Given the description of an element on the screen output the (x, y) to click on. 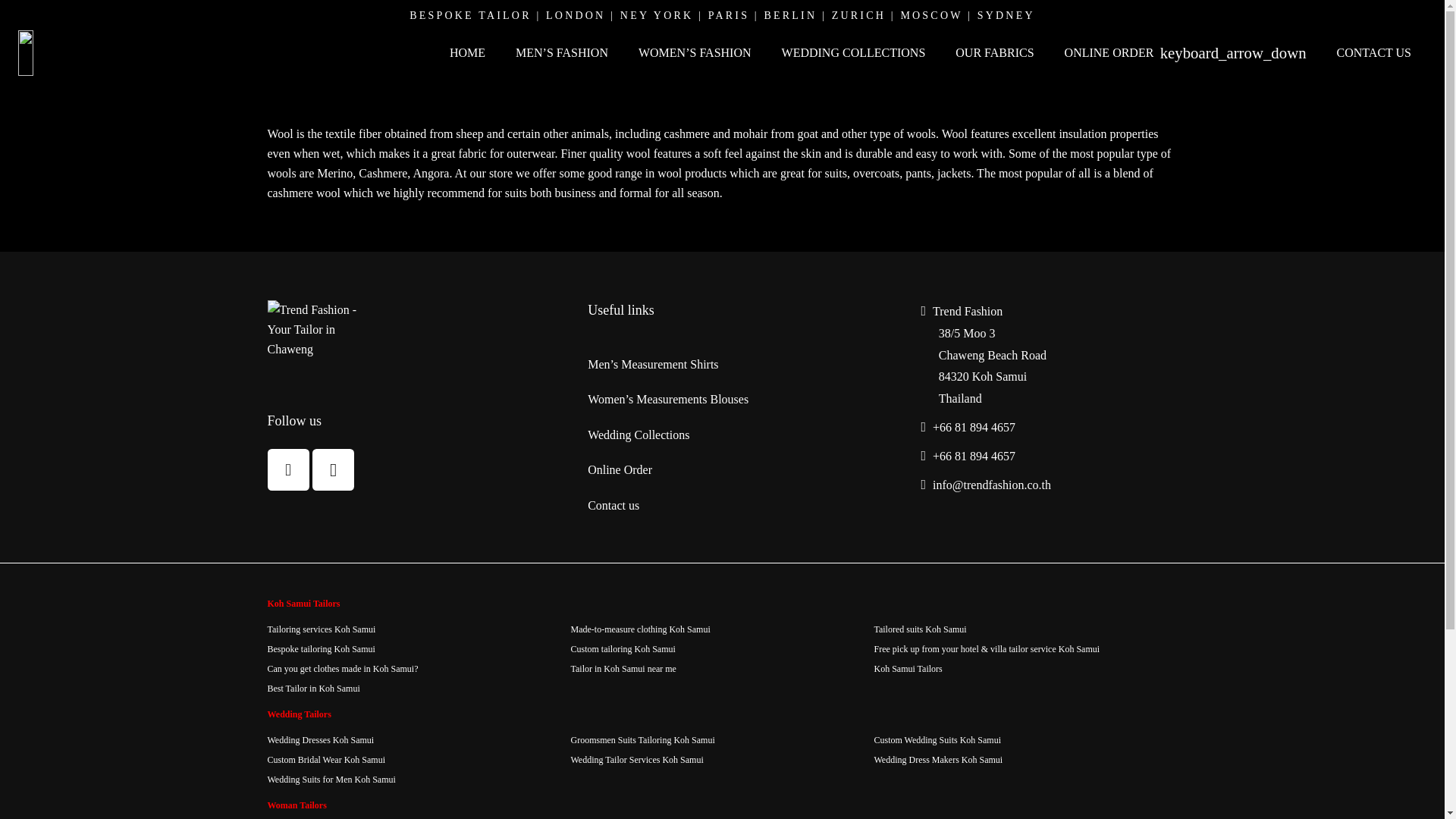
CONTACT US (1374, 53)
Bespoke tailoring Koh Samui (320, 648)
WEDDING COLLECTIONS (853, 53)
Wedding Suits for Men Koh Samui (330, 778)
Tailoring services Koh Samui (320, 629)
Wedding Tailor Services Koh Samui (636, 759)
Tailor in Koh Samui near me (622, 668)
Groomsmen Suits Tailoring Koh Samui (642, 739)
Made-to-measure clothing Koh Samui (640, 629)
Contact us (613, 504)
Best Tailor in Koh Samui (312, 688)
HOME (466, 53)
ONLINE ORDER (1185, 53)
Tailored suits Koh Samui (919, 629)
Online Order (620, 469)
